Given the description of an element on the screen output the (x, y) to click on. 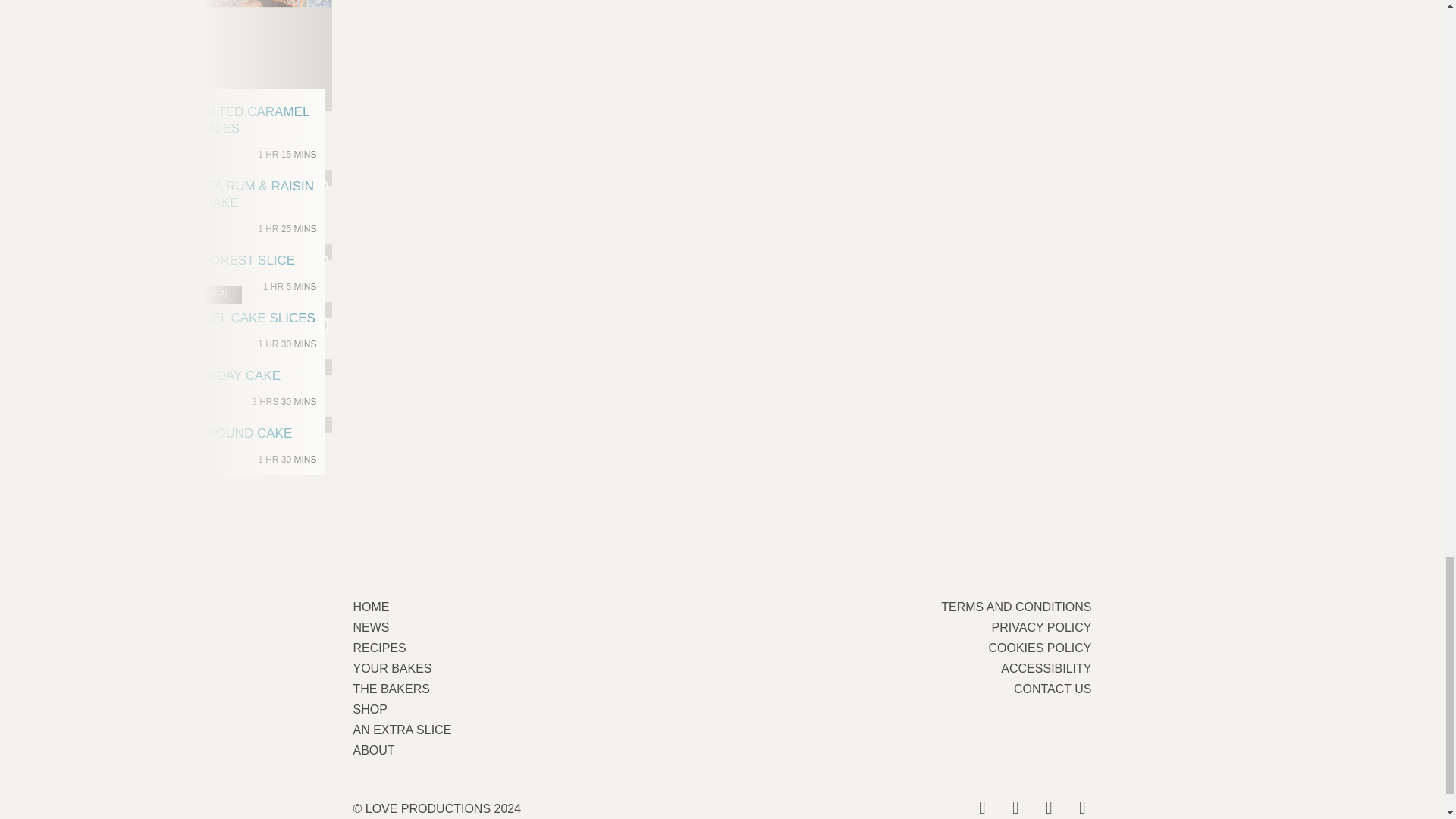
ACCESSIBILITY (1045, 667)
THE BAKERS (391, 688)
RECIPES (204, 445)
TERMS AND CONDITIONS (379, 647)
PRIVACY POLICY (1015, 606)
YOUR BAKES (1041, 626)
CONTACT US (392, 667)
AN EXTRA SLICE (1052, 688)
SHOP (402, 729)
ABOUT (370, 708)
HOME (373, 749)
COOKIES POLICY (371, 606)
NEWS (1039, 647)
